Given the description of an element on the screen output the (x, y) to click on. 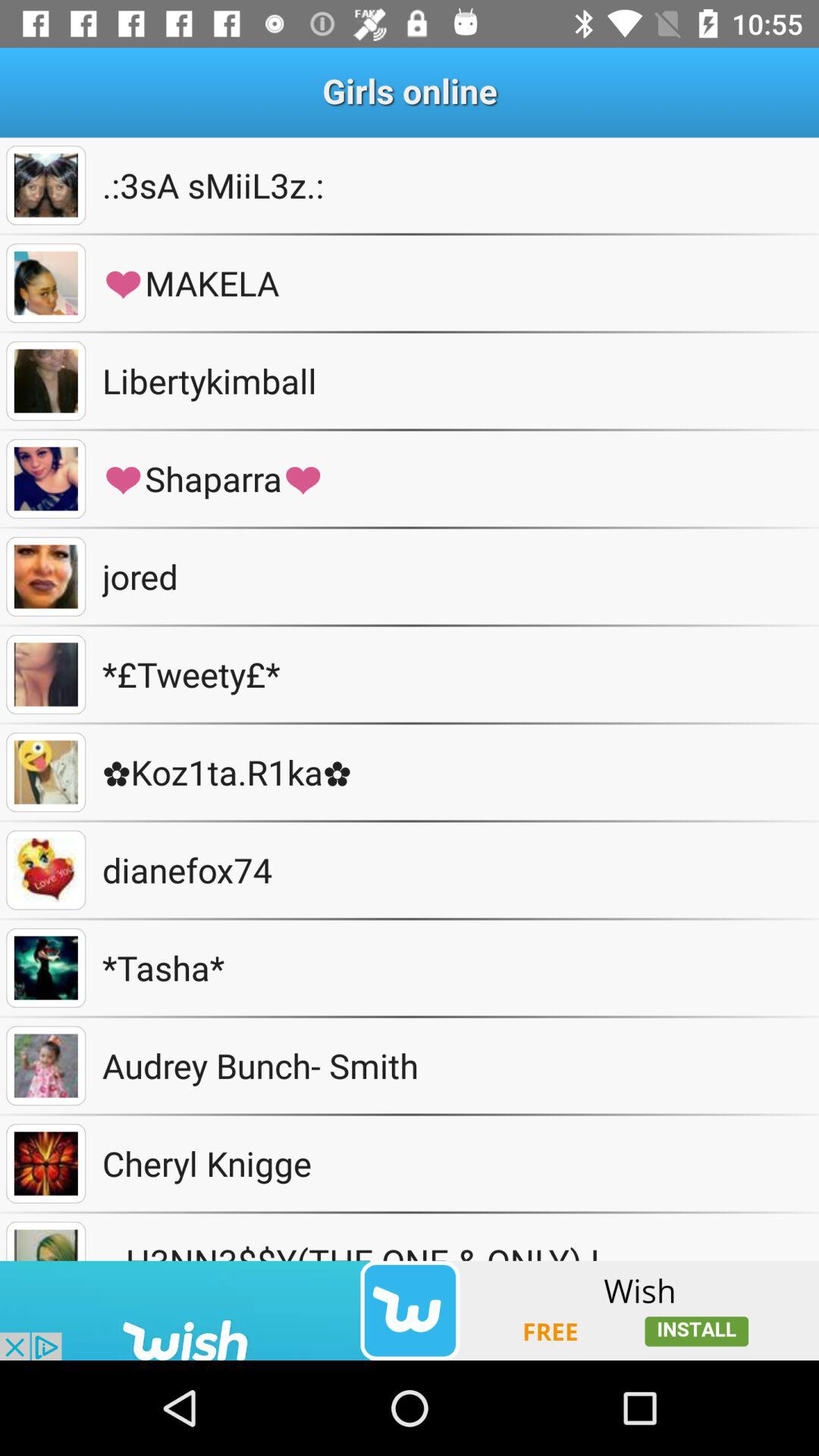
image page (45, 576)
